Given the description of an element on the screen output the (x, y) to click on. 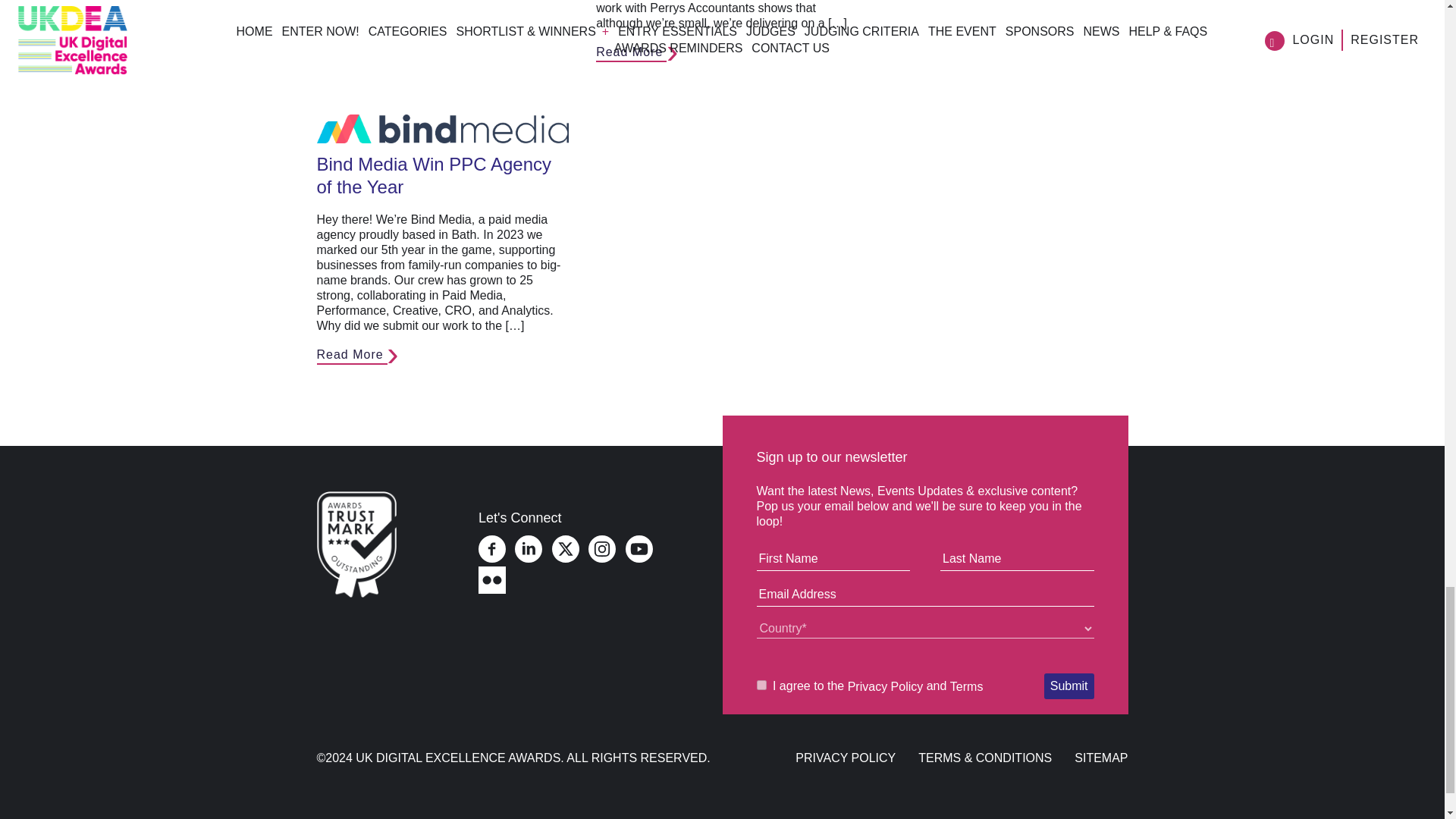
Read More (630, 52)
Read More (352, 354)
on (762, 685)
